Given the description of an element on the screen output the (x, y) to click on. 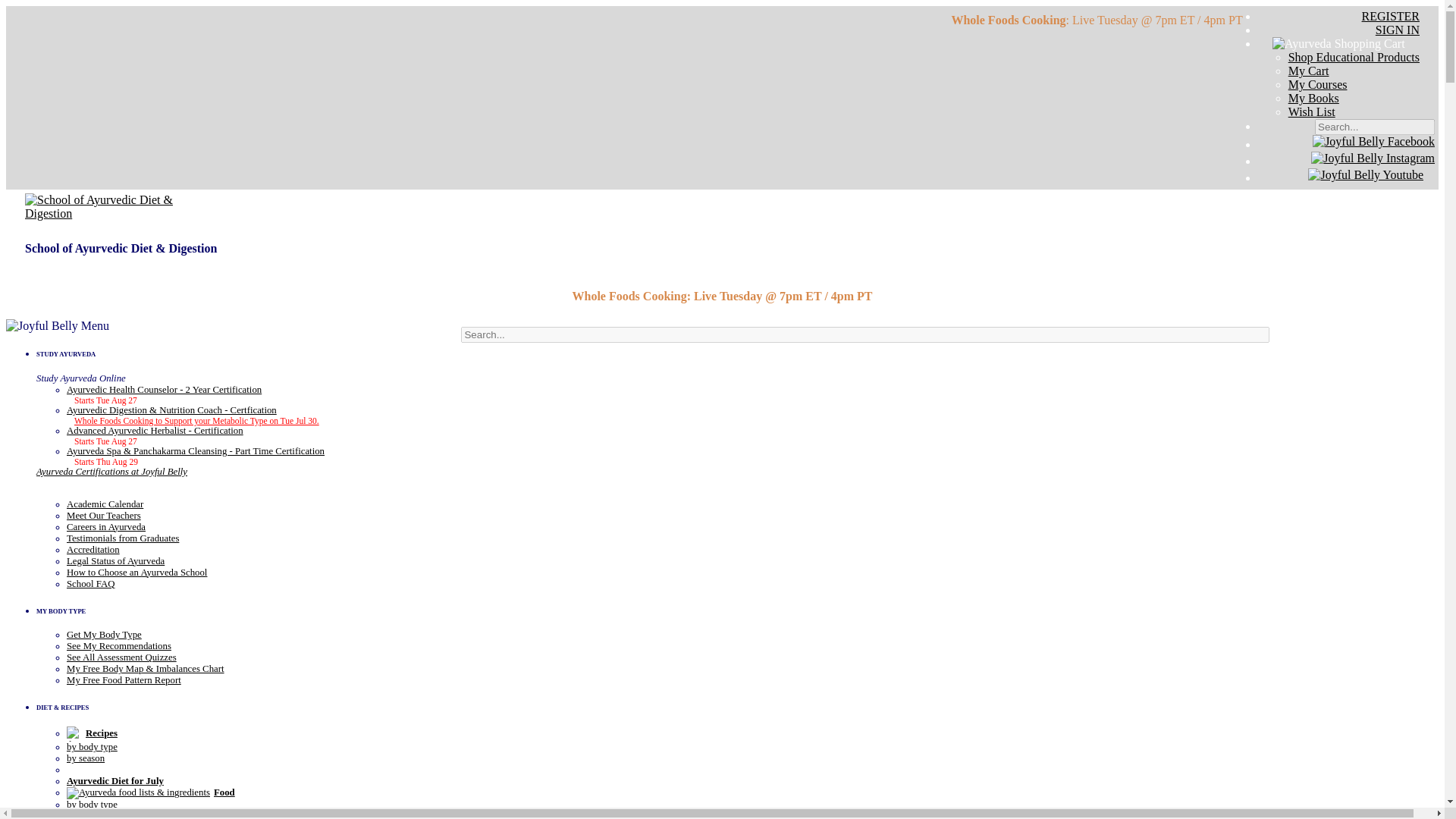
Advanced Ayurvedic Herbalist - Certification (154, 430)
Ayurveda Certifications at Joyful Belly (111, 471)
How to Choose an Ayurveda School (136, 572)
Legal Status of Ayurveda (115, 561)
Careers in Ayurveda (105, 526)
ABOUT THE SCHOOL (91, 483)
by season (85, 757)
My Courses (1318, 83)
Academic Calendar (104, 503)
Ayurvedic Health Counselor - 2 Year Certification (164, 389)
See All Assessment Quizzes (121, 656)
School FAQ (90, 583)
by body type (91, 747)
by body type (91, 804)
Shop Educational Products (1353, 56)
